Given the description of an element on the screen output the (x, y) to click on. 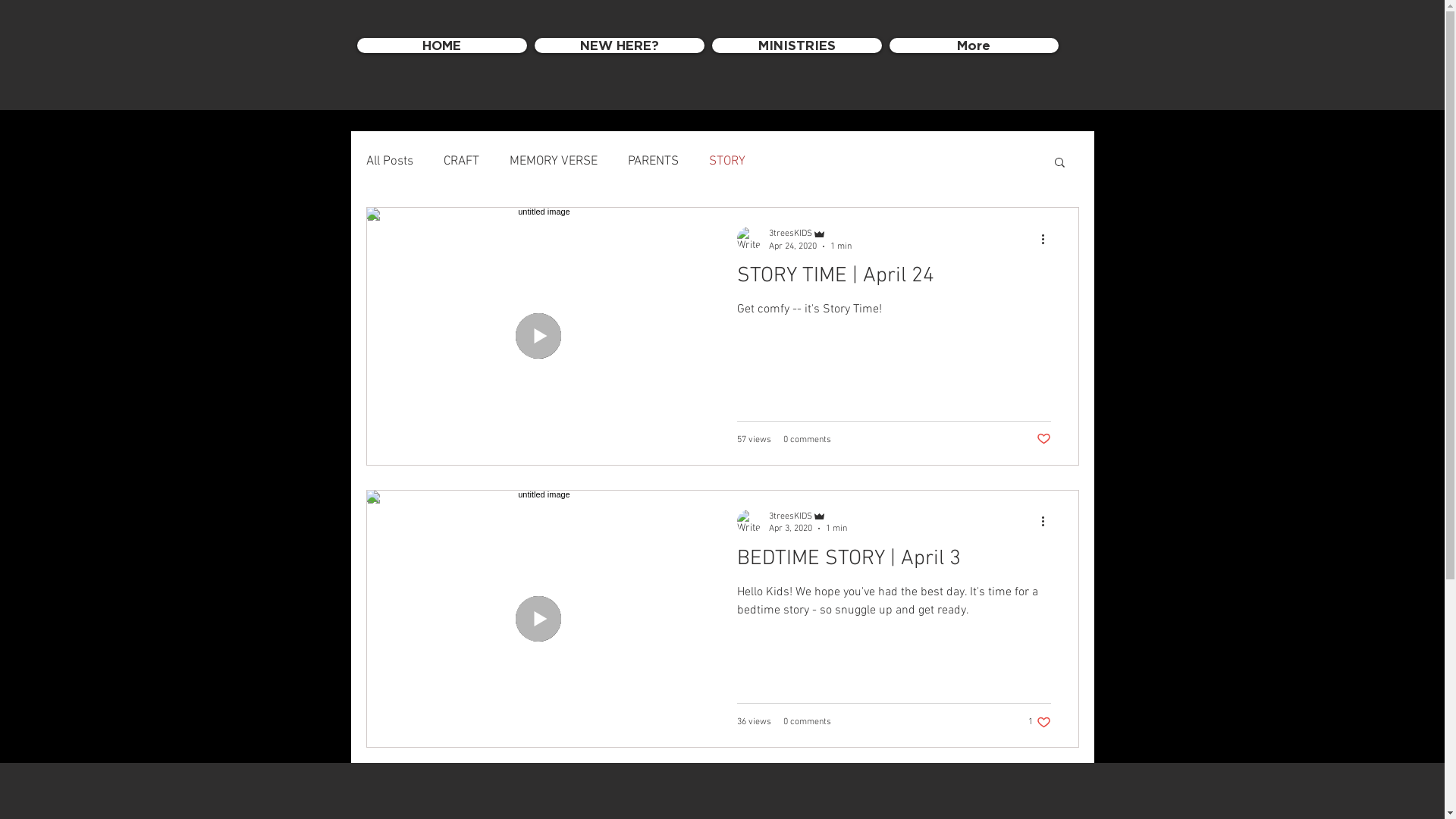
0 comments Element type: text (806, 721)
PARENTS Element type: text (652, 161)
MEMORY VERSE Element type: text (553, 161)
All Posts Element type: text (388, 161)
3treesKIDS Element type: text (809, 232)
0 comments Element type: text (806, 438)
1 like. Post not marked as liked
1 Element type: text (1039, 721)
BEDTIME STORY | April 3 Element type: text (894, 562)
NEW HERE? Element type: text (618, 45)
HOME Element type: text (441, 45)
STORY Element type: text (726, 161)
CRAFT Element type: text (460, 161)
STORY TIME | April 24 Element type: text (894, 280)
Post not marked as liked Element type: text (1042, 438)
3treesKIDS Element type: text (807, 515)
